Given the description of an element on the screen output the (x, y) to click on. 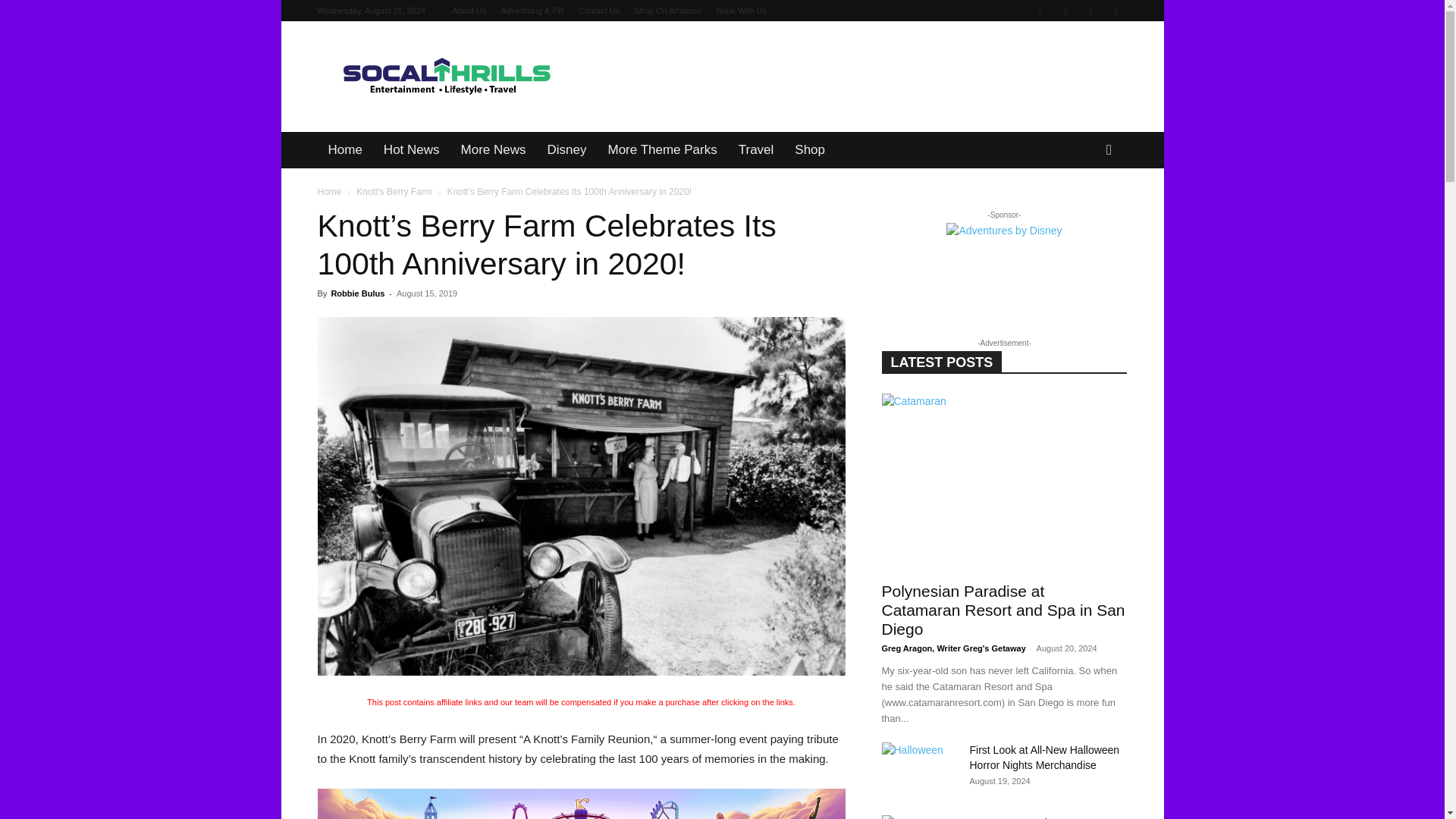
Facebook (1040, 10)
Contact Us (599, 10)
Hot News (410, 149)
More Theme Parks (661, 149)
Socalthrills Logo (445, 76)
Home (344, 149)
Book With Us (741, 10)
More News (493, 149)
Shop On Amazon! (667, 10)
Instagram (1065, 10)
